Given the description of an element on the screen output the (x, y) to click on. 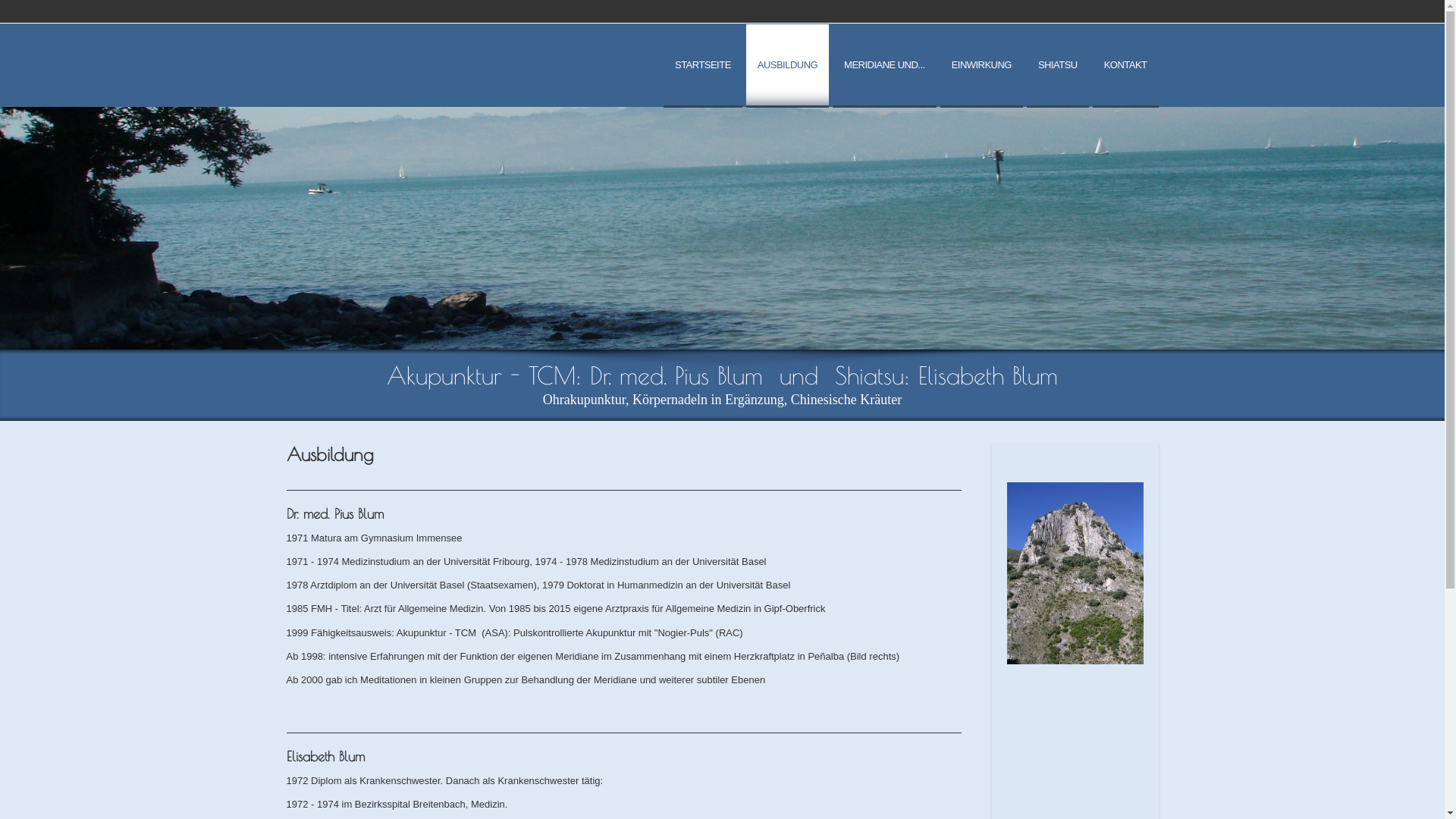
STARTSEITE Element type: text (702, 65)
MERIDIANE UND... Element type: text (884, 65)
KONTAKT Element type: text (1125, 65)
SHIATSU Element type: text (1057, 65)
EINWIRKUNG Element type: text (981, 65)
AUSBILDUNG Element type: text (787, 65)
